Given the description of an element on the screen output the (x, y) to click on. 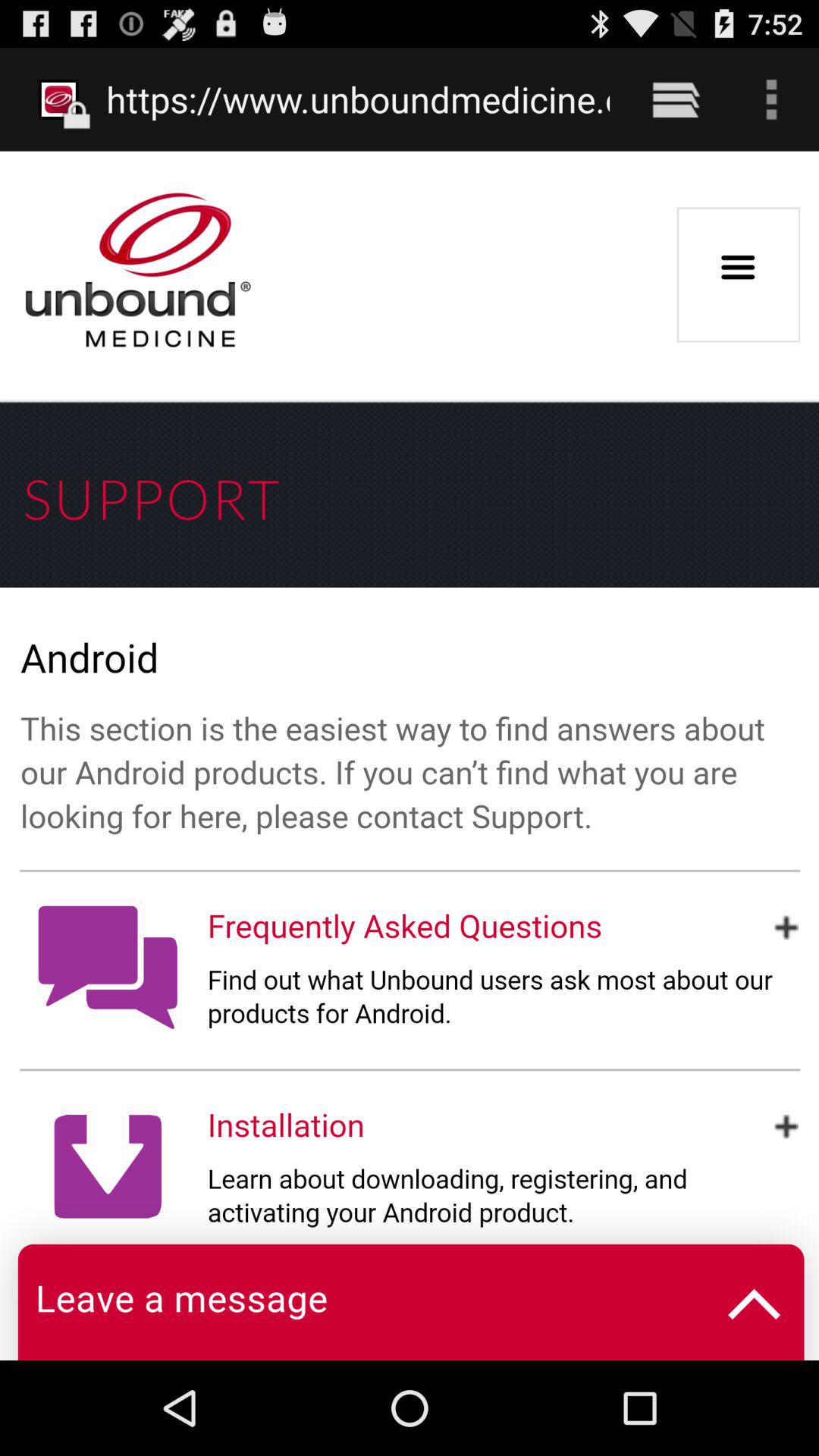
turn on the icon below https www unboundmedicine (409, 755)
